Given the description of an element on the screen output the (x, y) to click on. 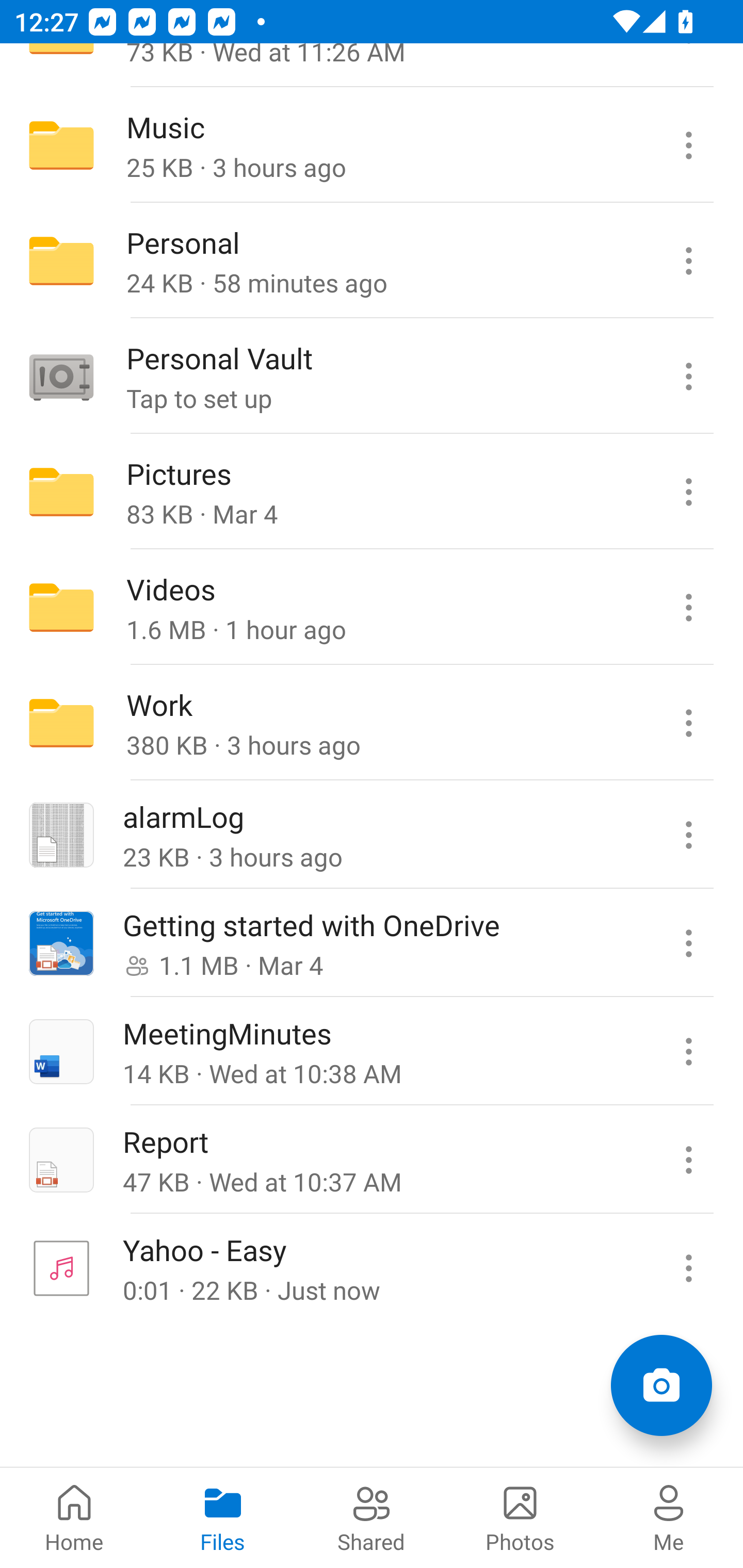
Folder Music 25 KB · 3 hours ago Music commands (371, 145)
Music commands (688, 145)
Personal commands (688, 260)
Personal Vault commands (688, 376)
Folder Pictures 83 KB · Mar 4 Pictures commands (371, 492)
Pictures commands (688, 492)
Folder Videos 1.6 MB · 1 hour ago Videos commands (371, 607)
Videos commands (688, 607)
Folder Work 380 KB · 3 hours ago Work commands (371, 722)
Work commands (688, 722)
alarmLog commands (688, 834)
Getting started with OneDrive commands (688, 943)
MeetingMinutes commands (688, 1051)
Report commands (688, 1159)
Yahoo - Easy commands (688, 1267)
Add items Scan (660, 1385)
Home pivot Home (74, 1517)
Shared pivot Shared (371, 1517)
Photos pivot Photos (519, 1517)
Me pivot Me (668, 1517)
